Given the description of an element on the screen output the (x, y) to click on. 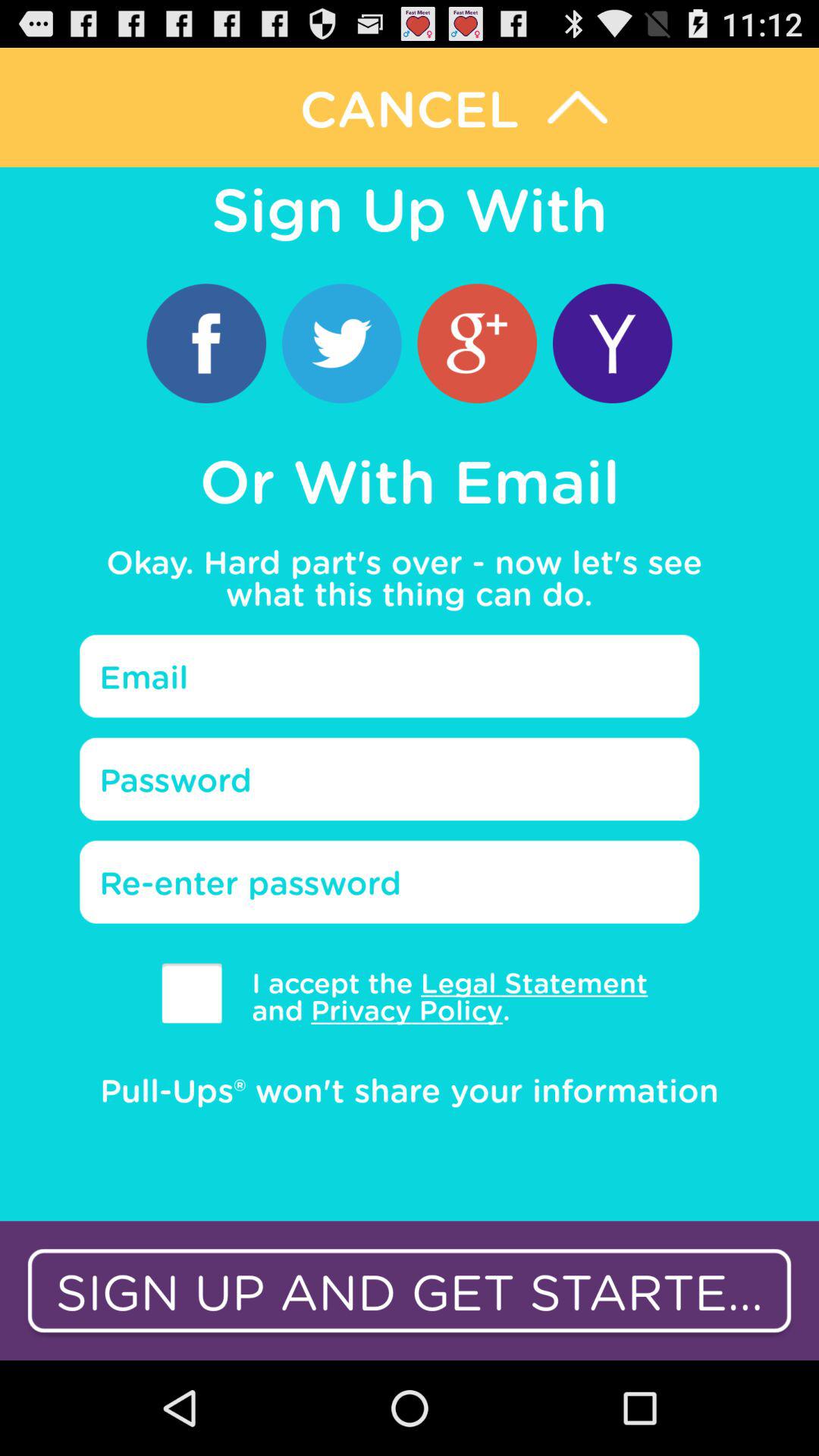
confirm password (389, 881)
